Given the description of an element on the screen output the (x, y) to click on. 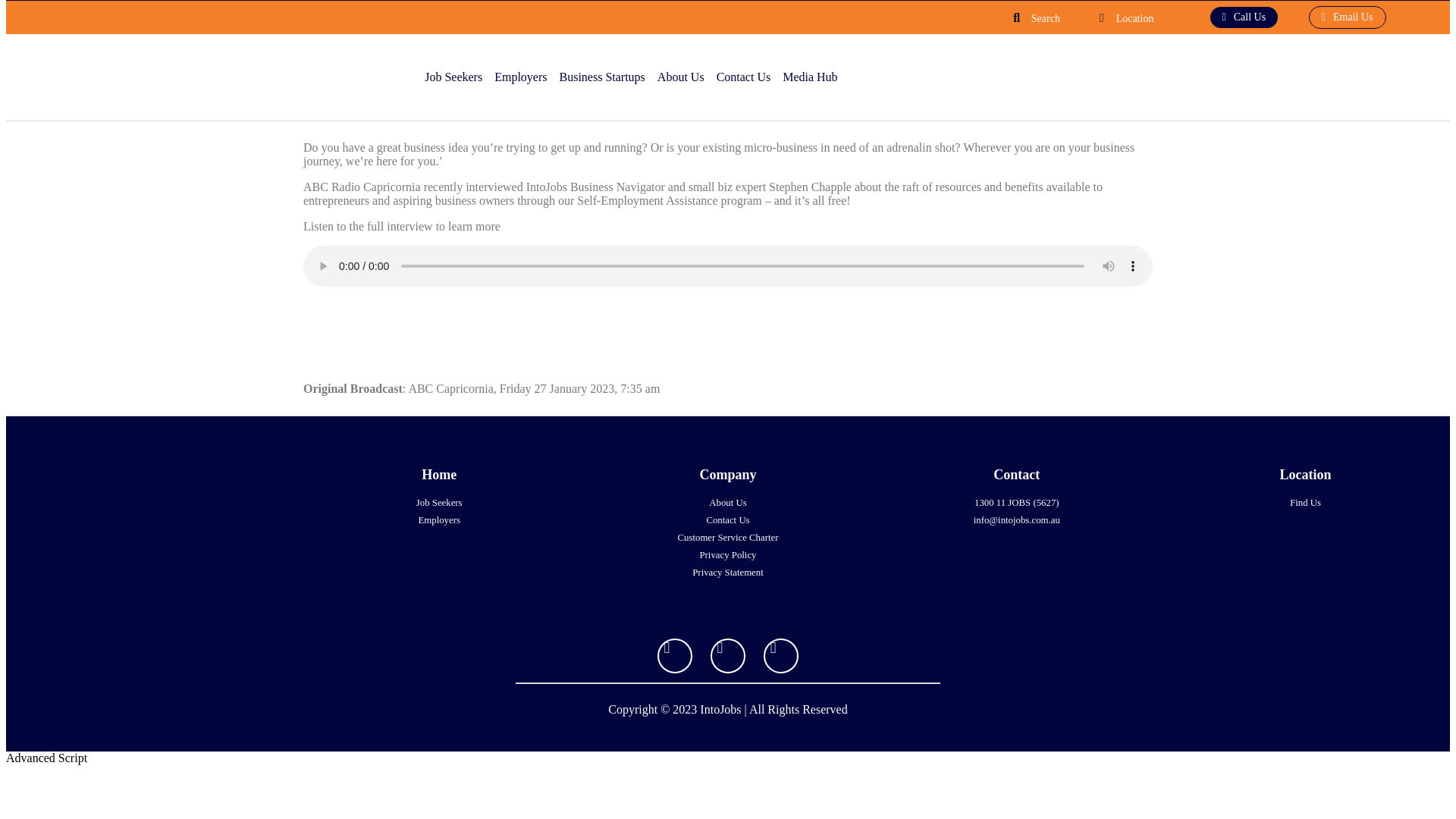
Job Seekers (455, 77)
Search (1044, 18)
About Us (683, 77)
Employers (522, 77)
Location (1135, 18)
Business Startups (603, 77)
Email Us (1347, 16)
Call Us (1243, 16)
